Given the description of an element on the screen output the (x, y) to click on. 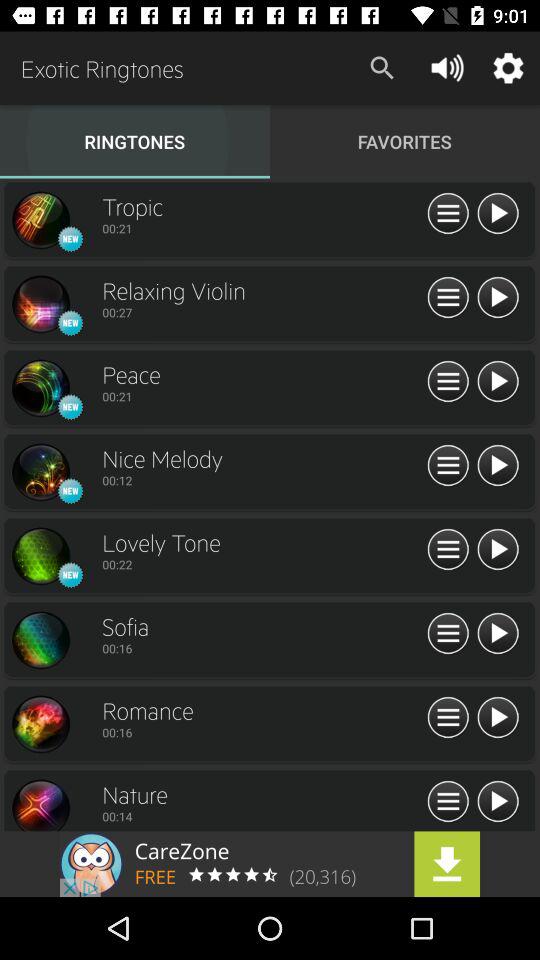
violin options (447, 297)
